Given the description of an element on the screen output the (x, y) to click on. 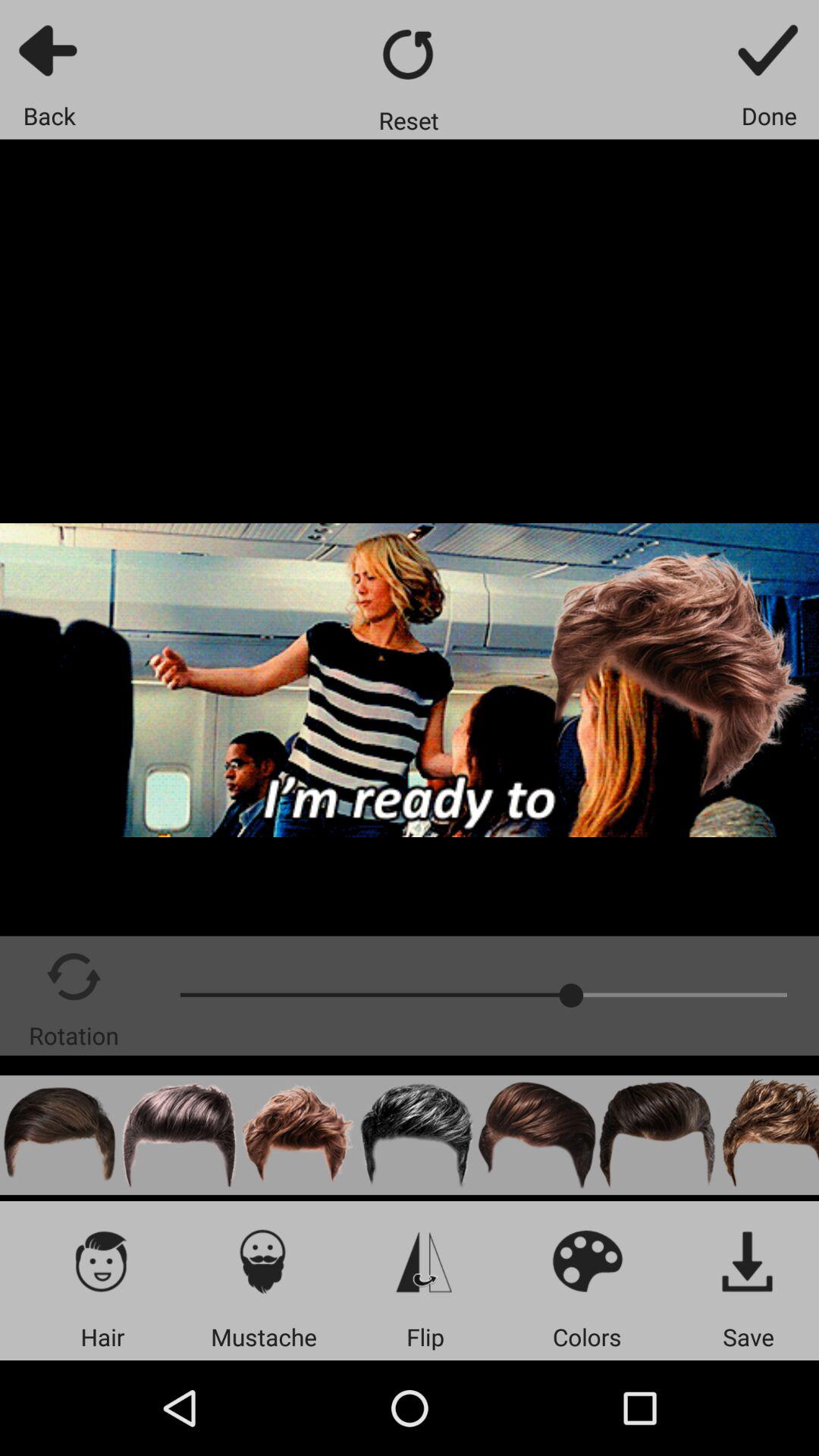
reset your options (408, 54)
